Given the description of an element on the screen output the (x, y) to click on. 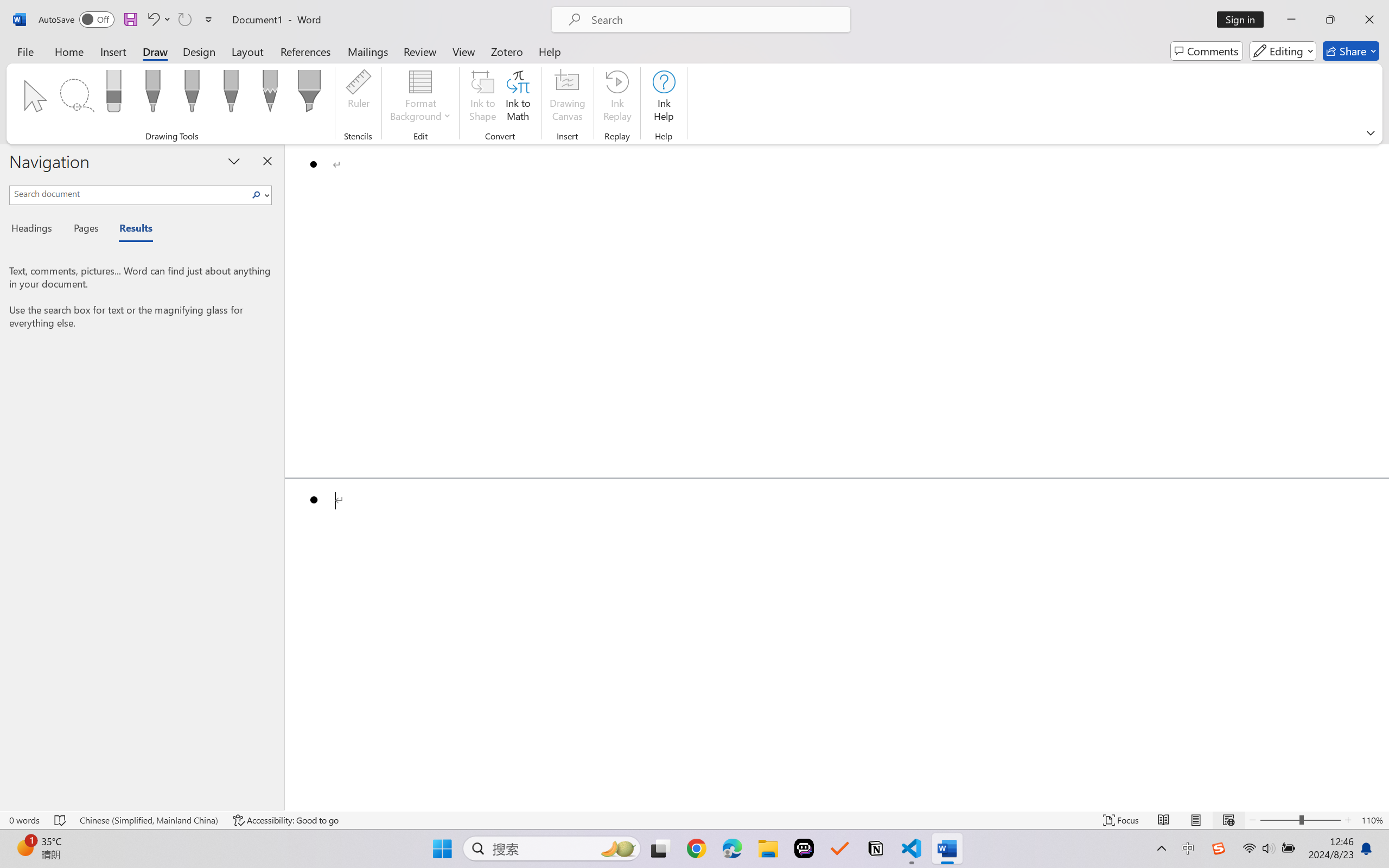
Ink Replay (617, 97)
Undo Bullet Default (158, 19)
